Given the description of an element on the screen output the (x, y) to click on. 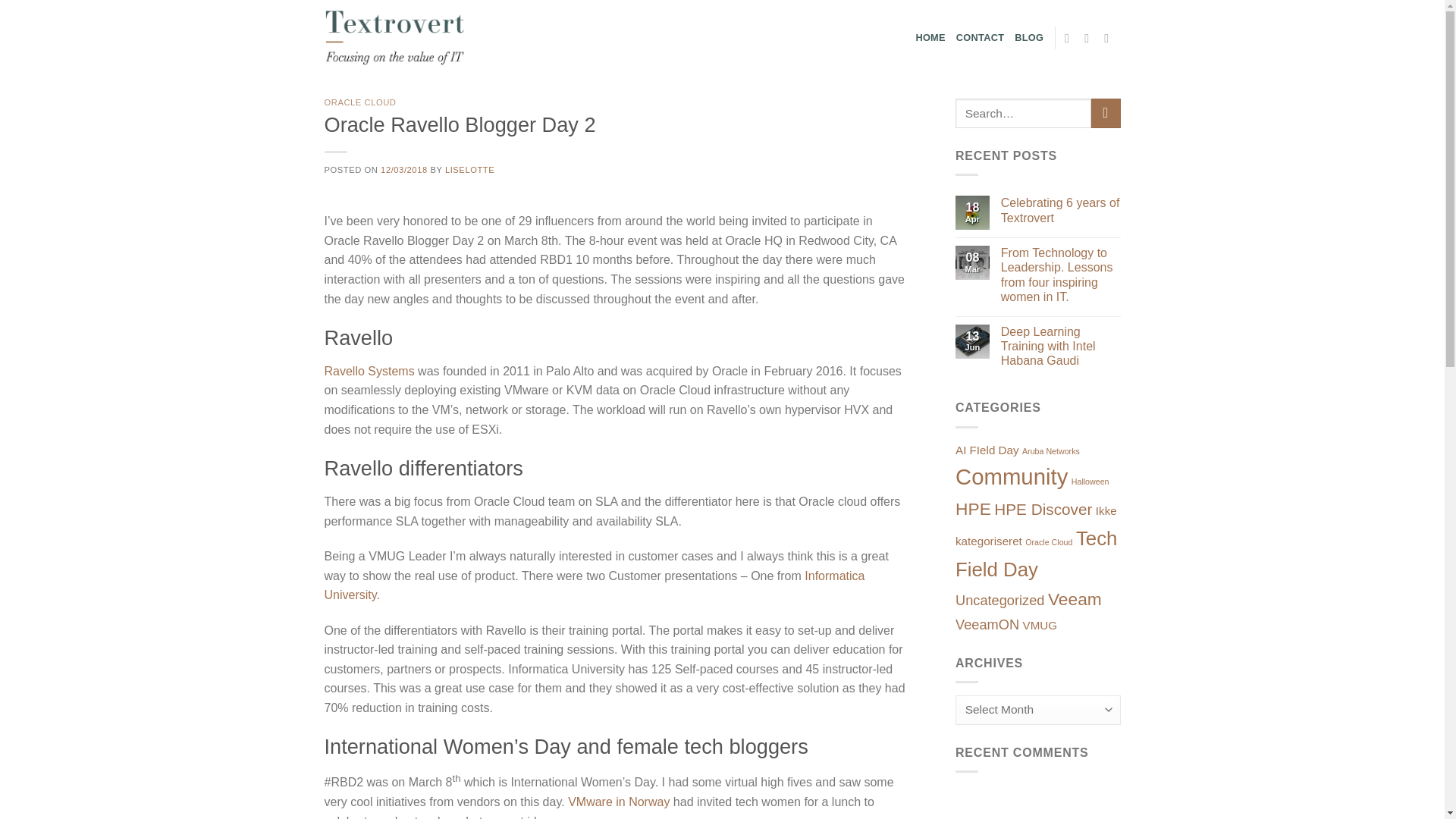
CONTACT (980, 37)
Ravello Systems (369, 370)
HOME (929, 37)
Celebrating 6 years of Textrovert (1061, 209)
Celebrating 6 years of Textrovert (1061, 209)
Send us an email (1090, 38)
AI FIeld Day (987, 449)
Textrovert - Focusing on the value of IT (398, 38)
Deep Learning Training with Intel Habana Gaudi (1061, 346)
LISELOTTE (470, 169)
ORACLE CLOUD (360, 102)
BLOG (1028, 37)
Informatica University (594, 585)
Follow on LinkedIn (1109, 38)
